Given the description of an element on the screen output the (x, y) to click on. 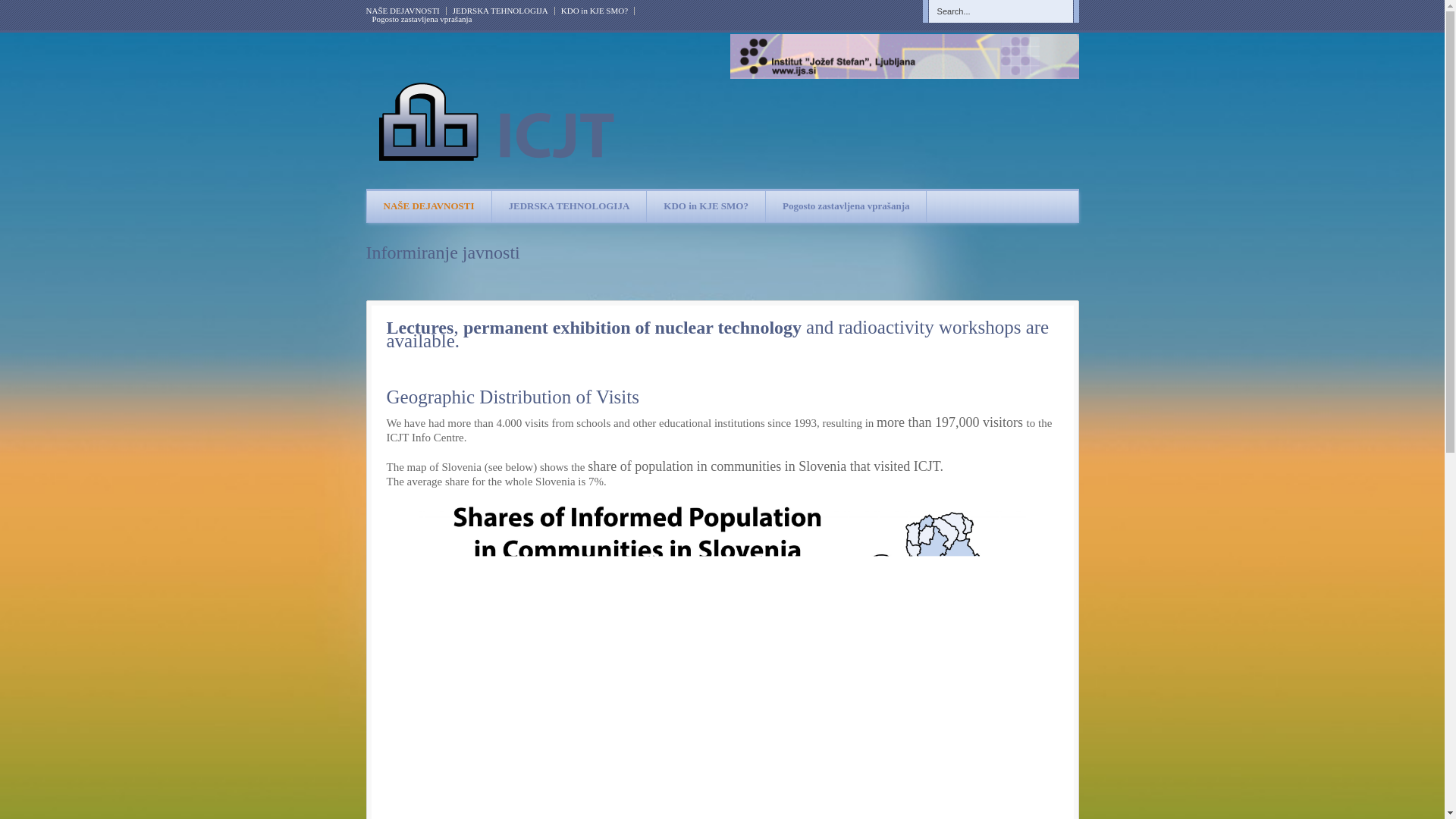
Lectures (420, 326)
JEDRSKA TEHNOLOGIJA (569, 205)
KDO in KJE SMO? (705, 205)
  Search... (999, 11)
JEDRSKA TEHNOLOGIJA (500, 10)
KDO in KJE SMO? (594, 10)
Informacijski center o jedrski tehnologiji (634, 326)
Radioactivity workshops (931, 326)
